Given the description of an element on the screen output the (x, y) to click on. 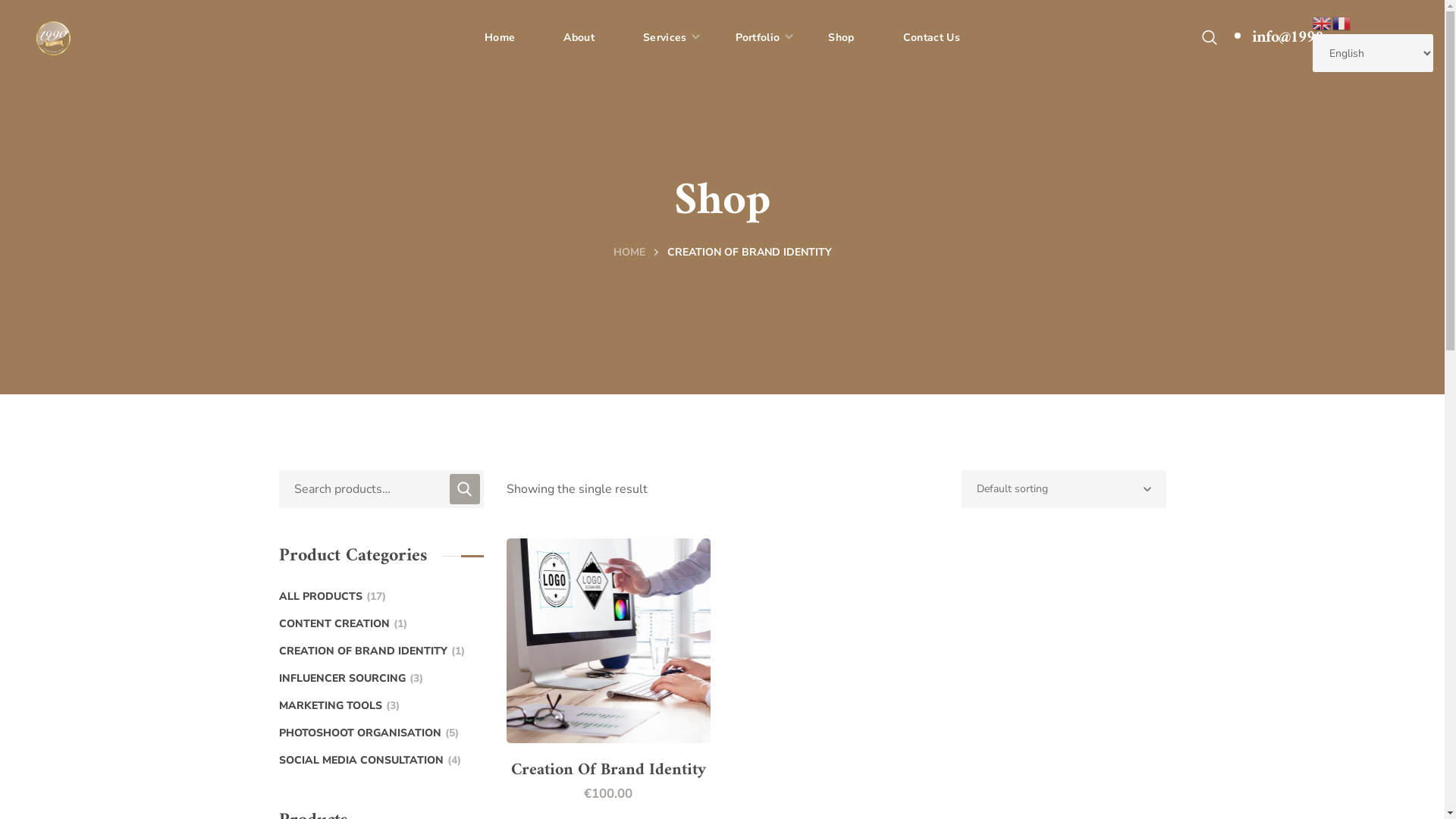
English Element type: hover (1322, 22)
CREATION OF BRAND IDENTITY1 Element type: text (371, 651)
Contact Us Element type: text (931, 37)
Search Element type: text (464, 489)
Shop Element type: text (840, 37)
Search Element type: text (1064, 441)
Portfolio Element type: text (757, 37)
PHOTOSHOOT ORGANISATION5 Element type: text (368, 732)
CONTENT CREATION1 Element type: text (343, 623)
Home Element type: text (499, 37)
HOME Element type: text (628, 251)
Services Element type: text (664, 37)
info@1990-agency.com Element type: text (1327, 37)
ALL PRODUCTS17 Element type: text (332, 596)
MARKETING TOOLS3 Element type: text (339, 705)
About Element type: text (578, 37)
SOCIAL MEDIA CONSULTATION4 Element type: text (370, 760)
French Element type: hover (1342, 22)
Creation Of Brand Identity Element type: text (608, 769)
INFLUENCER SOURCING3 Element type: text (351, 678)
